Given the description of an element on the screen output the (x, y) to click on. 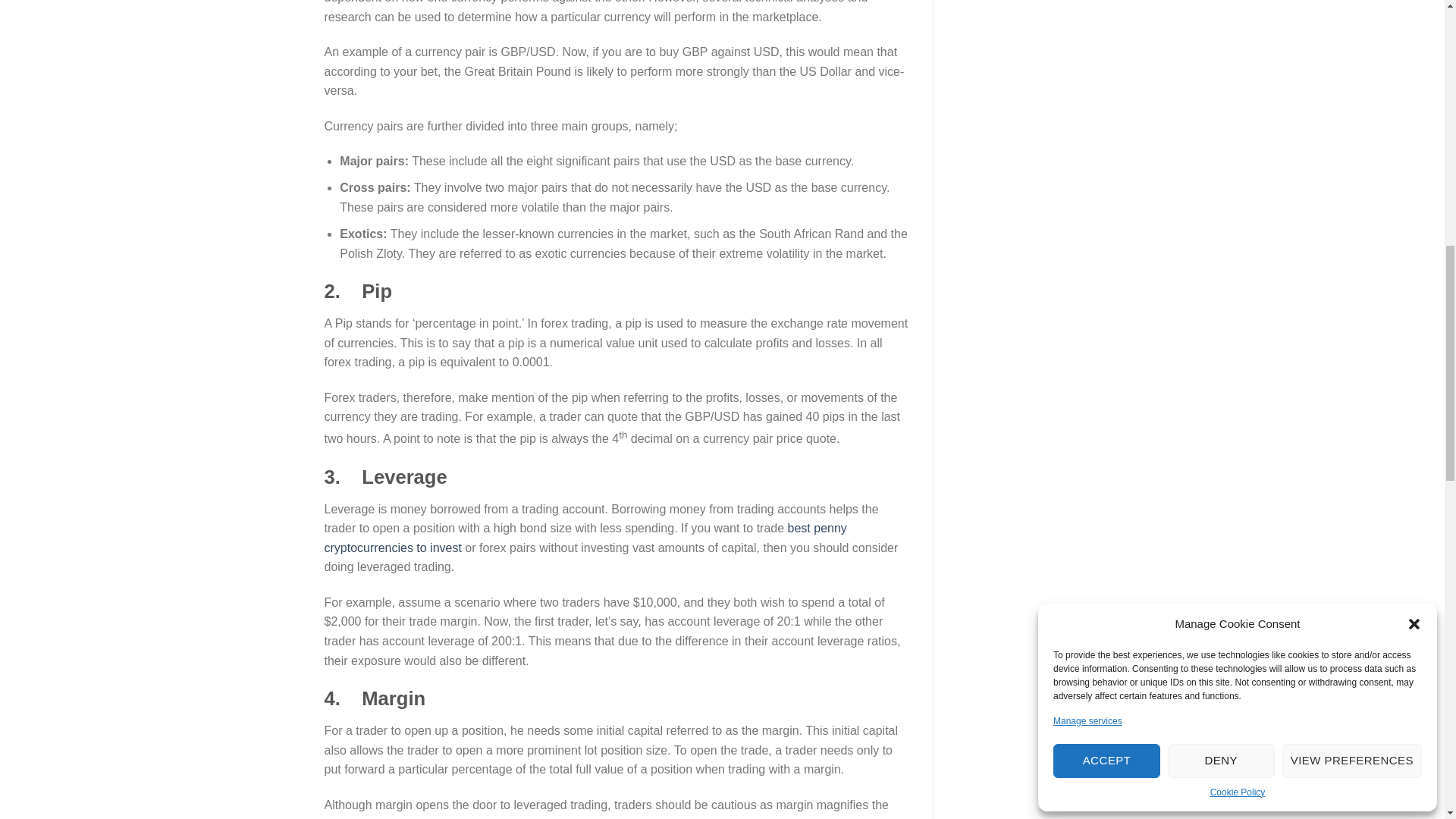
best penny cryptocurrencies to invest (585, 537)
